Given the description of an element on the screen output the (x, y) to click on. 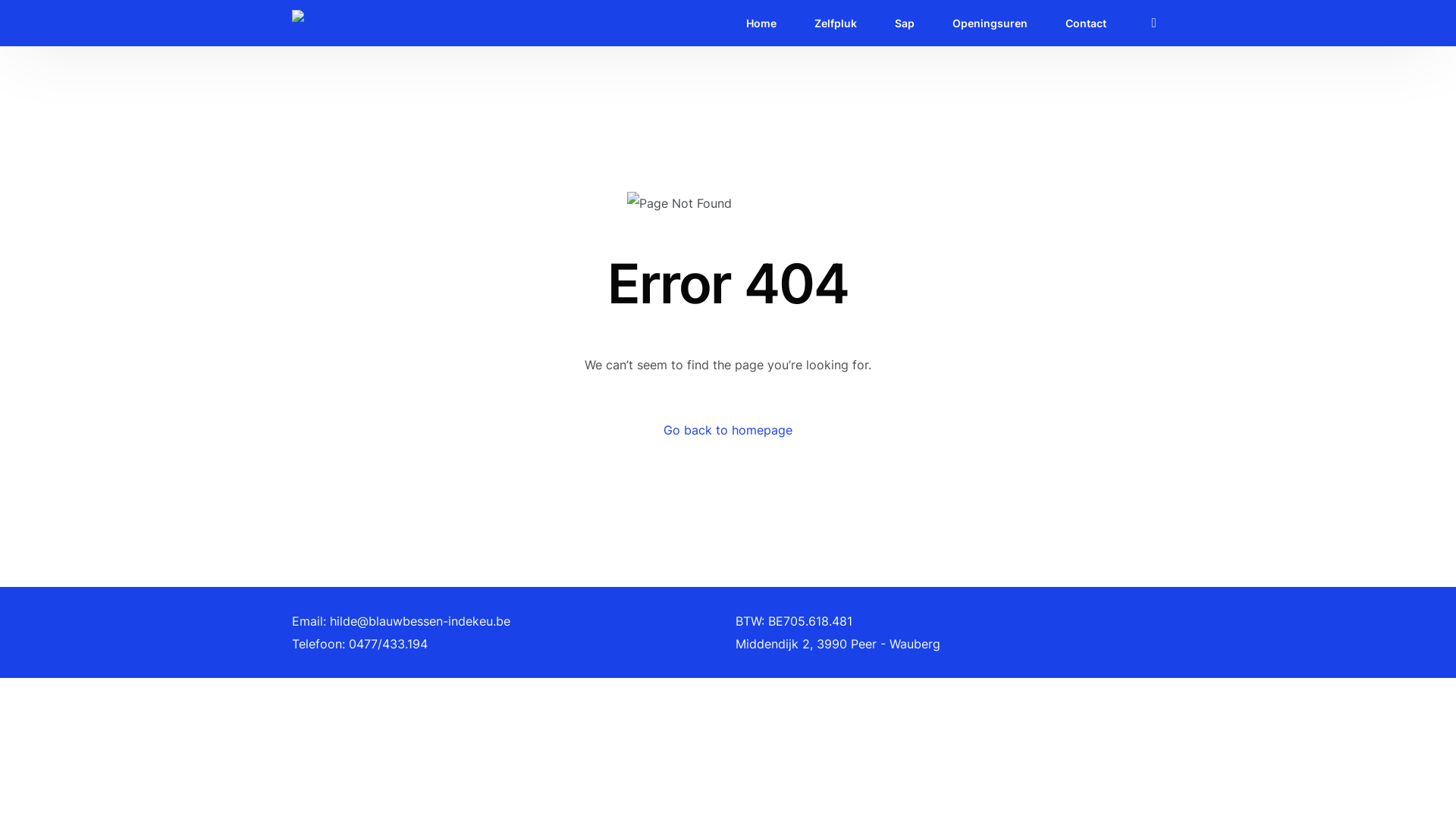
Home Element type: text (761, 23)
hilde@blauwbessen-indekeu.be Element type: text (419, 620)
Sap Element type: text (904, 23)
Go back to homepage Element type: text (727, 429)
Zelfpluk Element type: text (835, 23)
Openingsuren Element type: text (989, 23)
0477/433.194 Element type: text (387, 643)
Contact Element type: text (1085, 23)
